Given the description of an element on the screen output the (x, y) to click on. 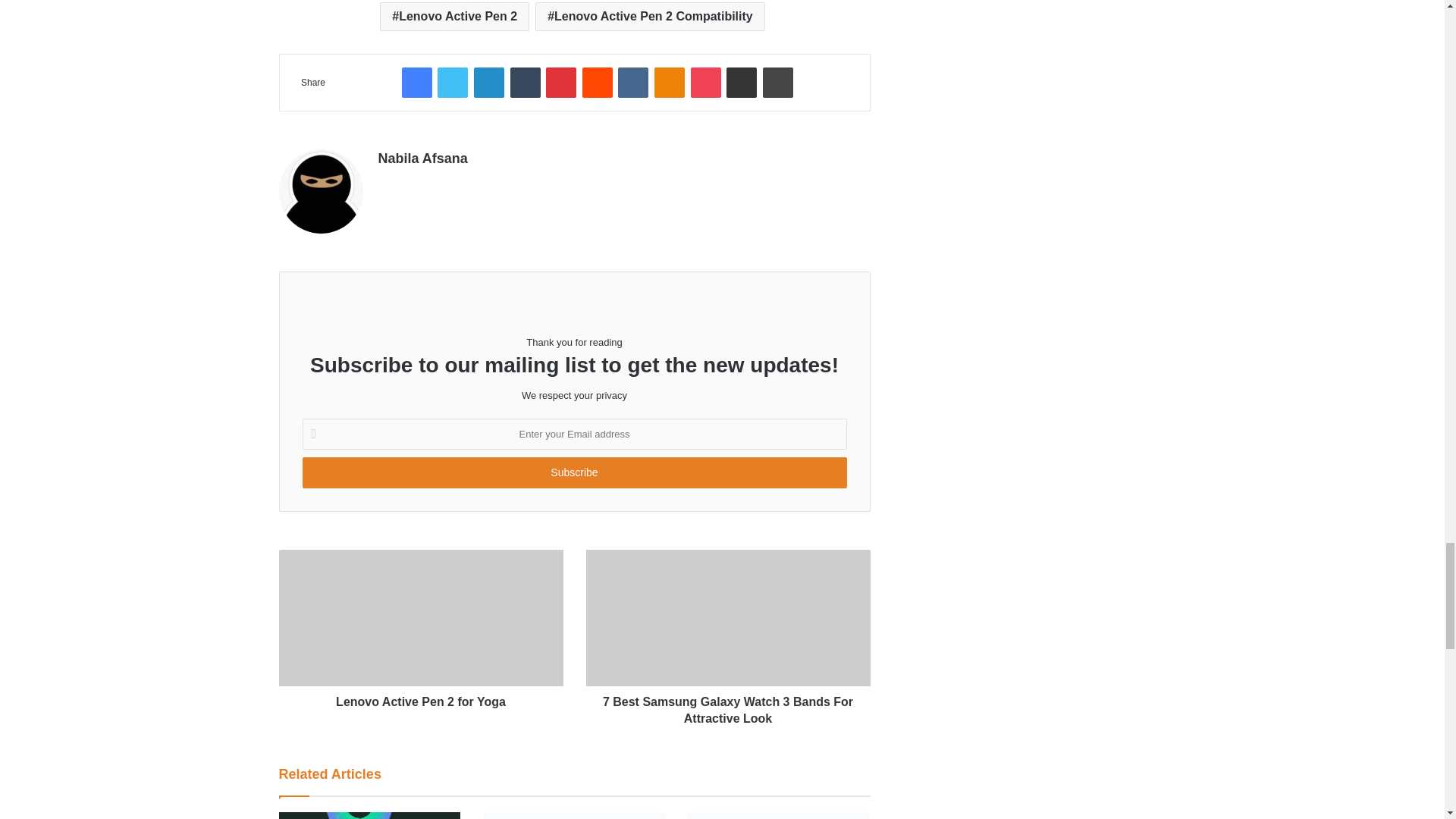
Subscribe (573, 472)
